Given the description of an element on the screen output the (x, y) to click on. 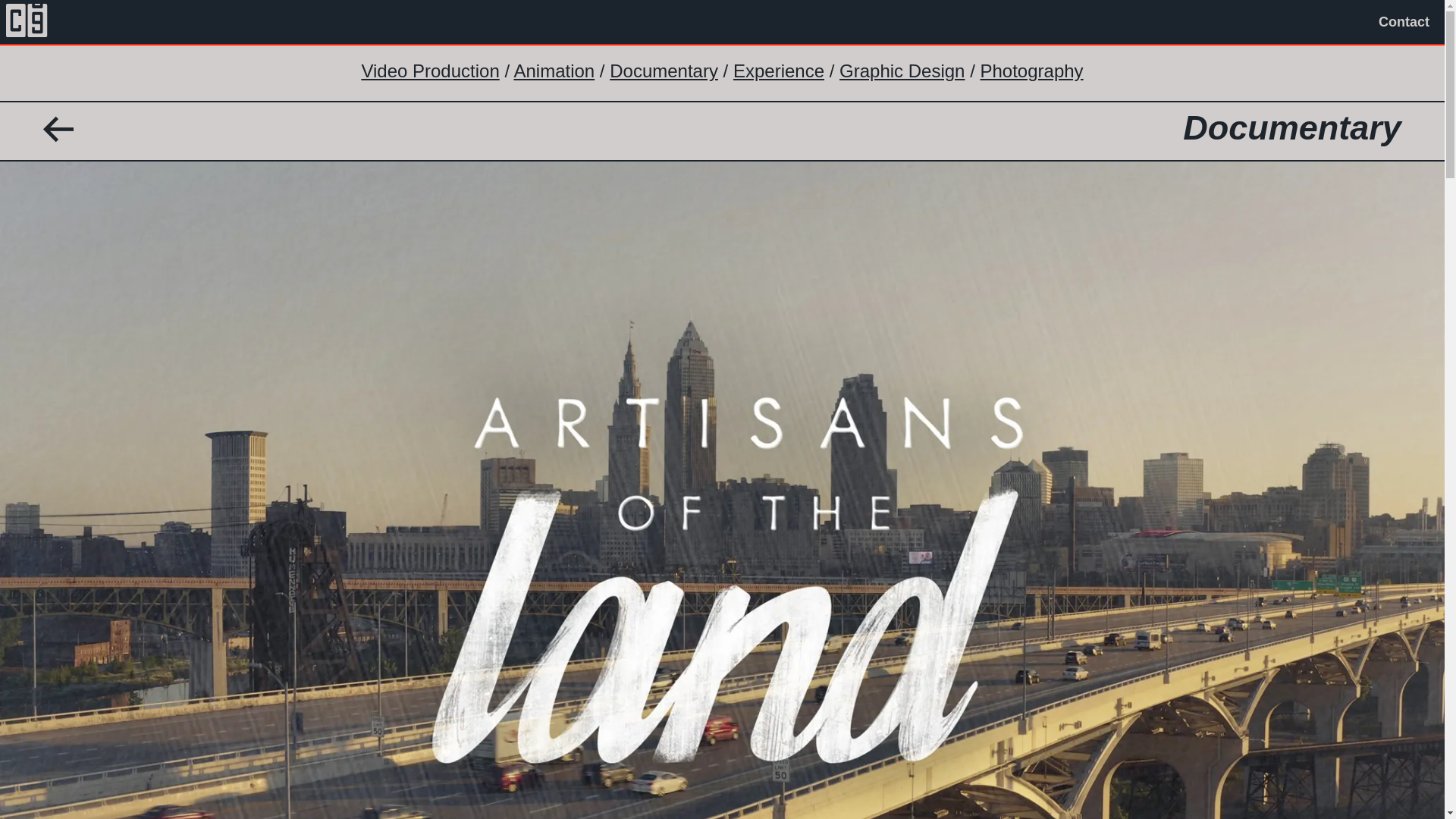
Documentary (663, 70)
Contact (1403, 22)
Animation (553, 70)
Graphic Design (901, 70)
Photography (1031, 70)
Experience (778, 70)
Video Production (430, 70)
